Given the description of an element on the screen output the (x, y) to click on. 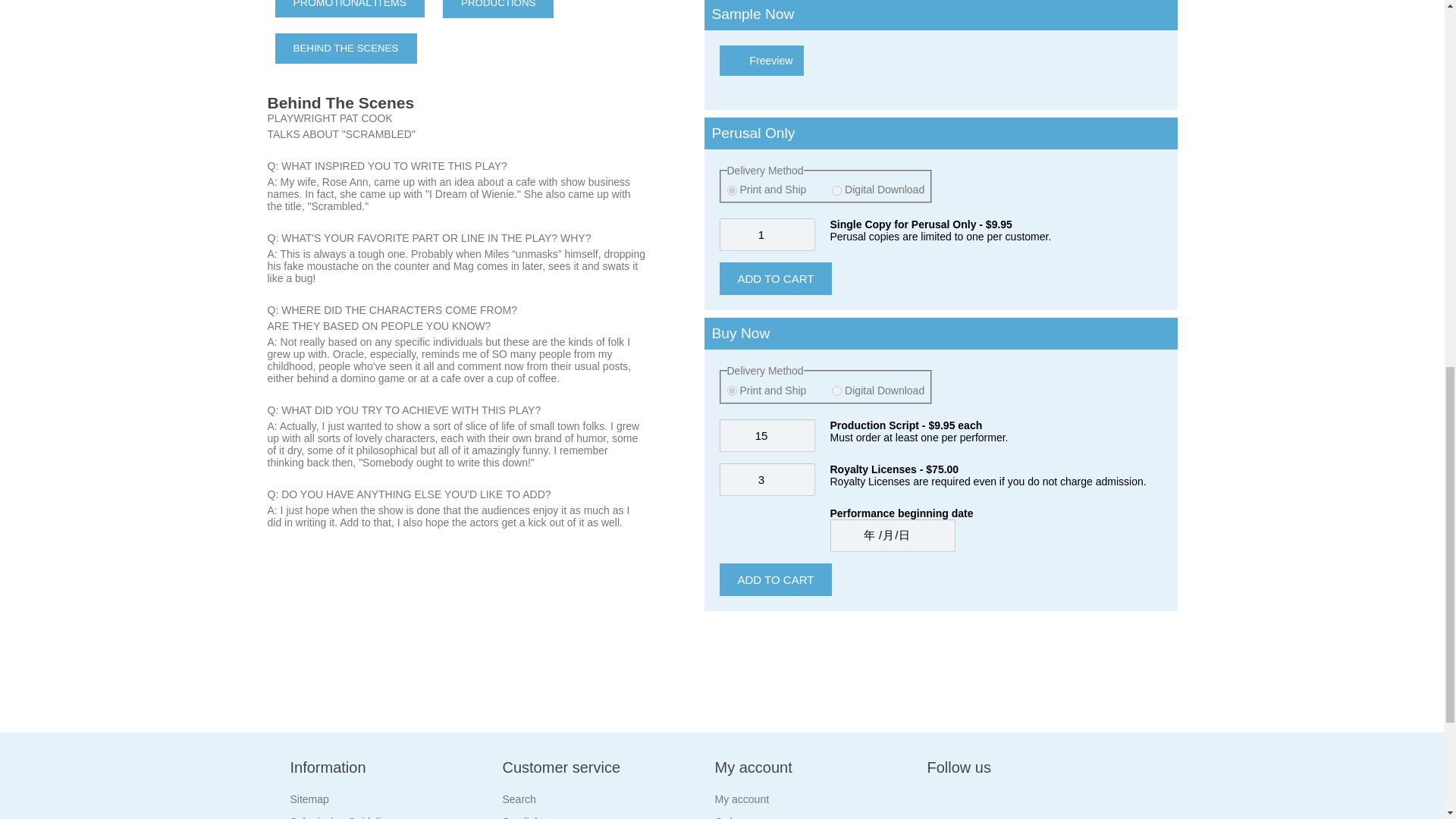
1 (766, 234)
15 (766, 435)
true (836, 190)
Add to cart (775, 278)
false (731, 390)
PROMOTIONAL ITEMS (350, 8)
3 (766, 479)
true (836, 390)
Add to Cart (775, 579)
false (731, 190)
